Given the description of an element on the screen output the (x, y) to click on. 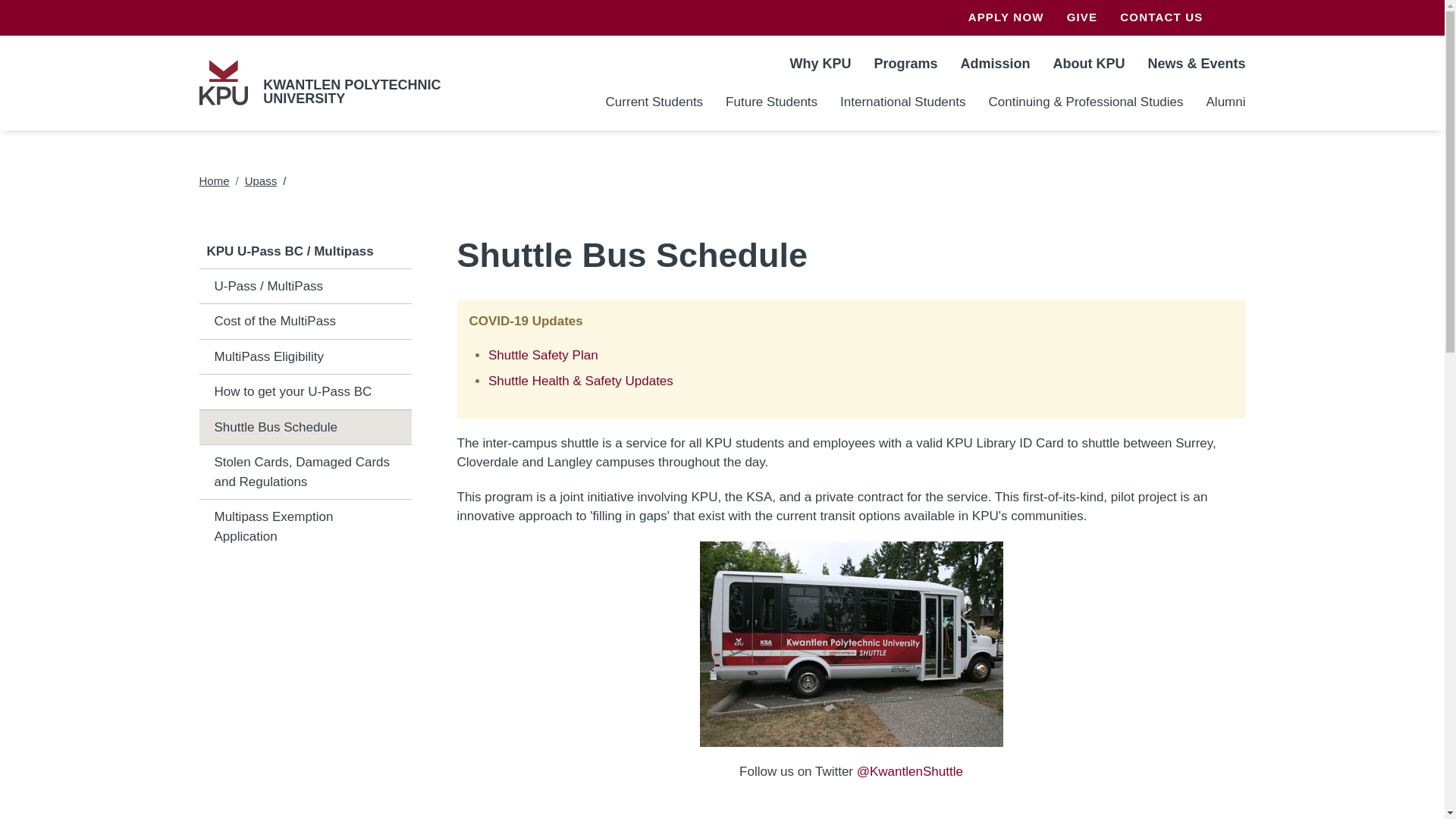
CONTACT US (1155, 17)
APPLY NOW (1005, 17)
About KPU (1088, 62)
Current Students (654, 101)
Multipass Exemption Application (304, 526)
Why KPU (819, 62)
Upass (261, 180)
Admission (995, 62)
Home (222, 82)
Cost of the MultiPass (304, 321)
Shuttle Bus Schedule (304, 427)
GIVE (1082, 17)
Future Students (771, 101)
MultiPass Eligibility (304, 356)
How to get your U-Pass BC (304, 392)
